Given the description of an element on the screen output the (x, y) to click on. 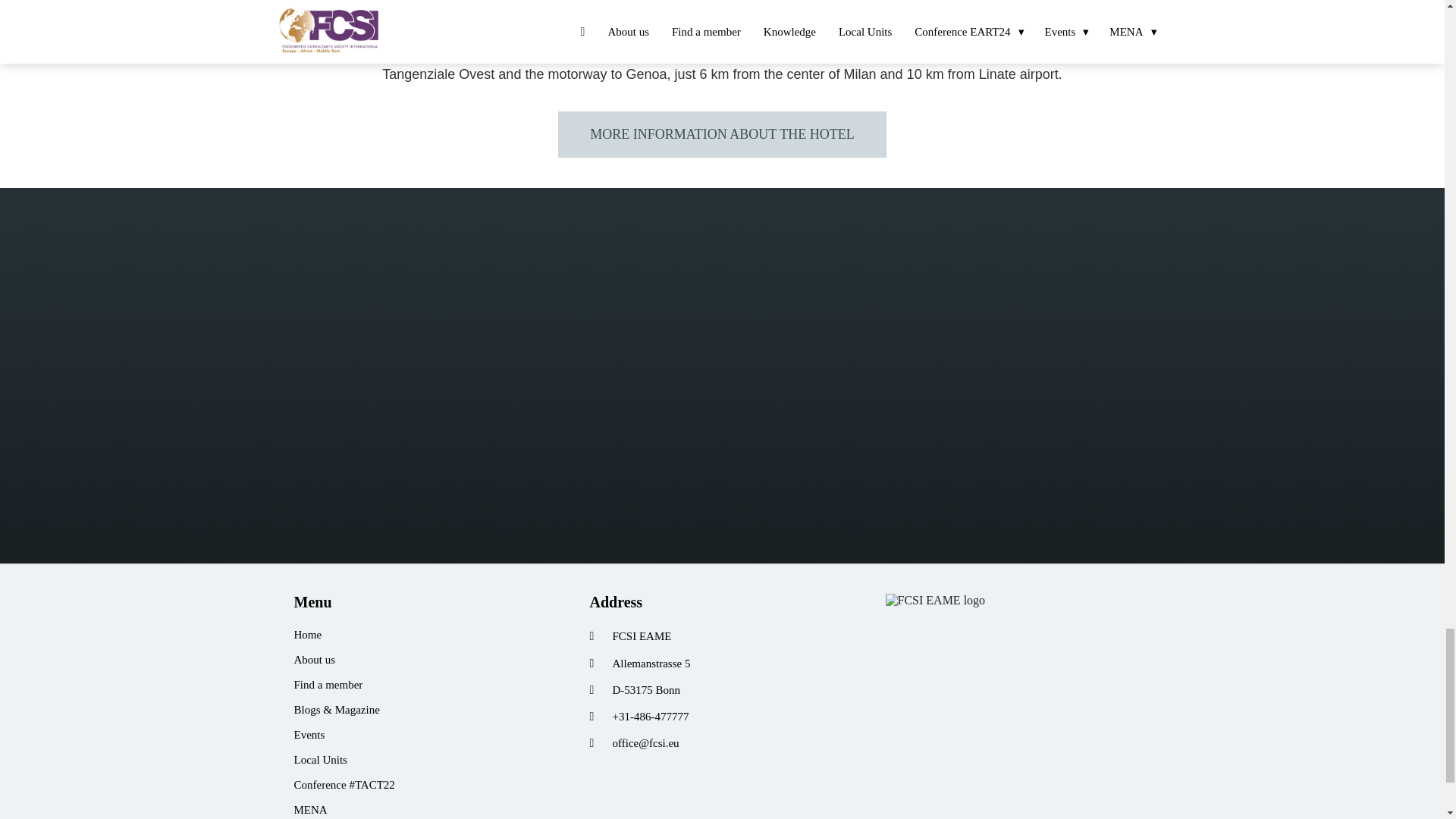
MORE INFORMATION ABOUT THE HOTEL (721, 133)
Find a member (426, 684)
Events (426, 734)
About us (426, 659)
Home (426, 634)
FCSI EAME logo (935, 600)
